Given the description of an element on the screen output the (x, y) to click on. 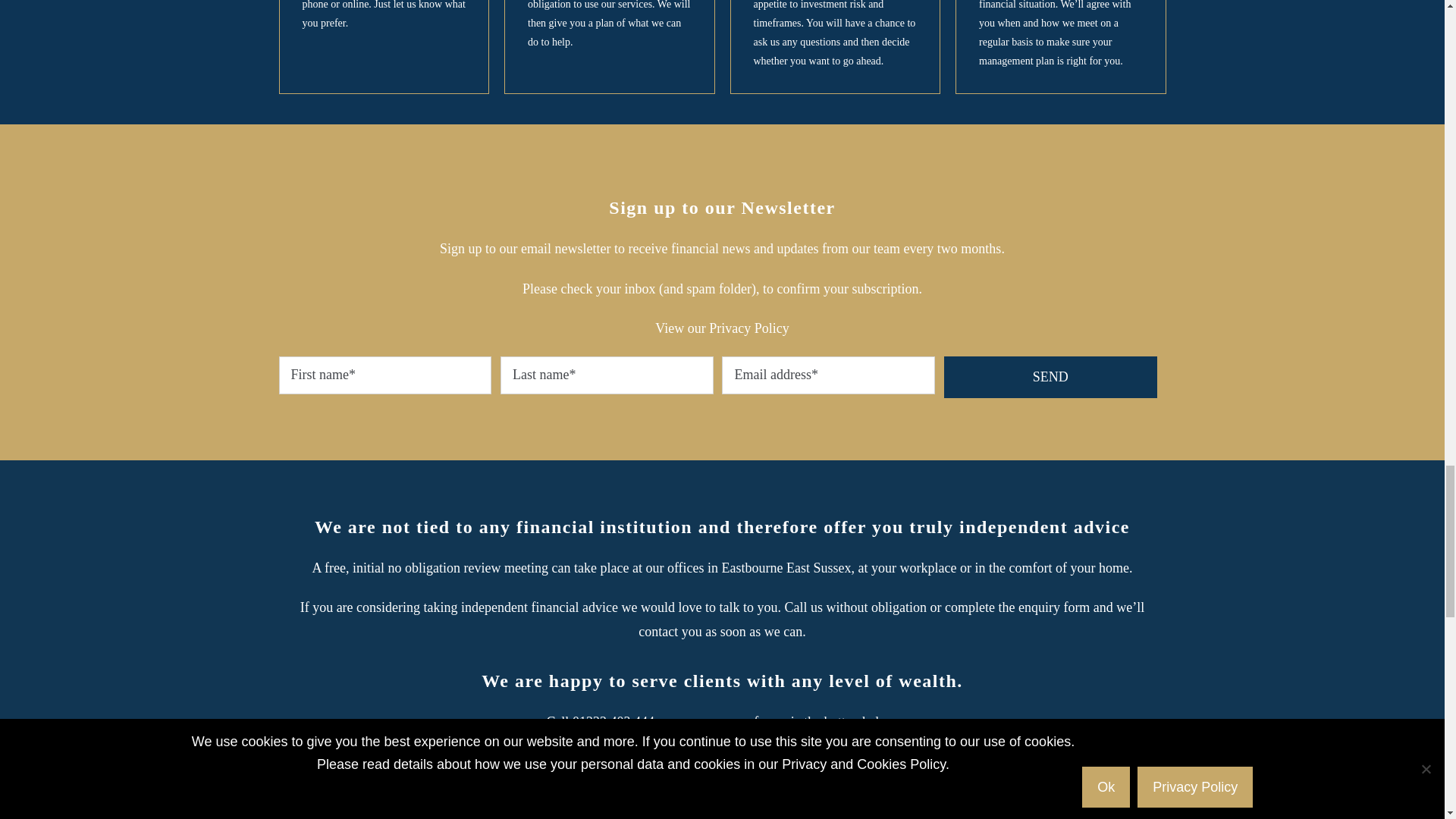
Send (1050, 377)
